Given the description of an element on the screen output the (x, y) to click on. 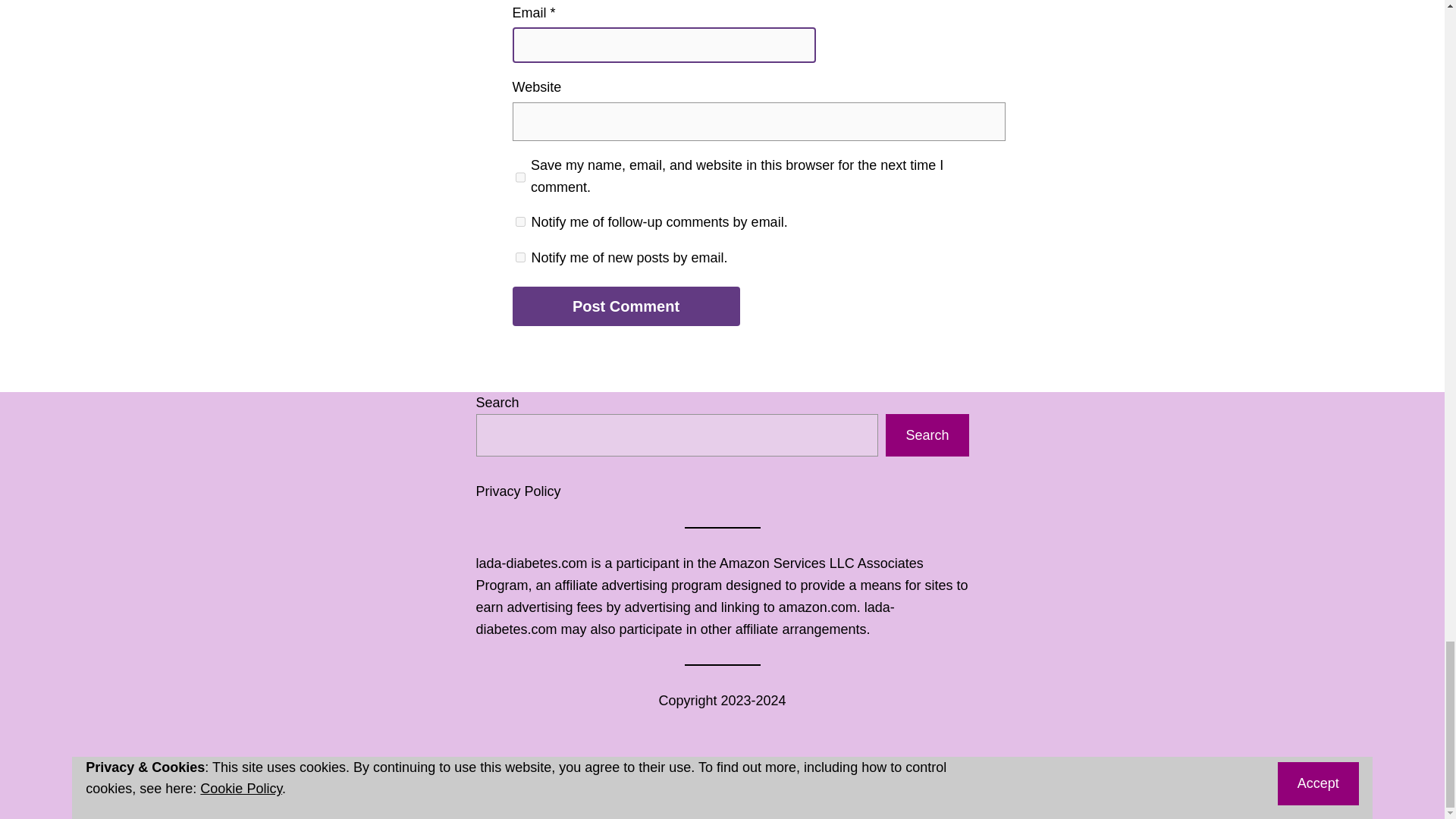
subscribe (520, 221)
Post Comment (625, 305)
Post Comment (625, 305)
subscribe (520, 257)
